Given the description of an element on the screen output the (x, y) to click on. 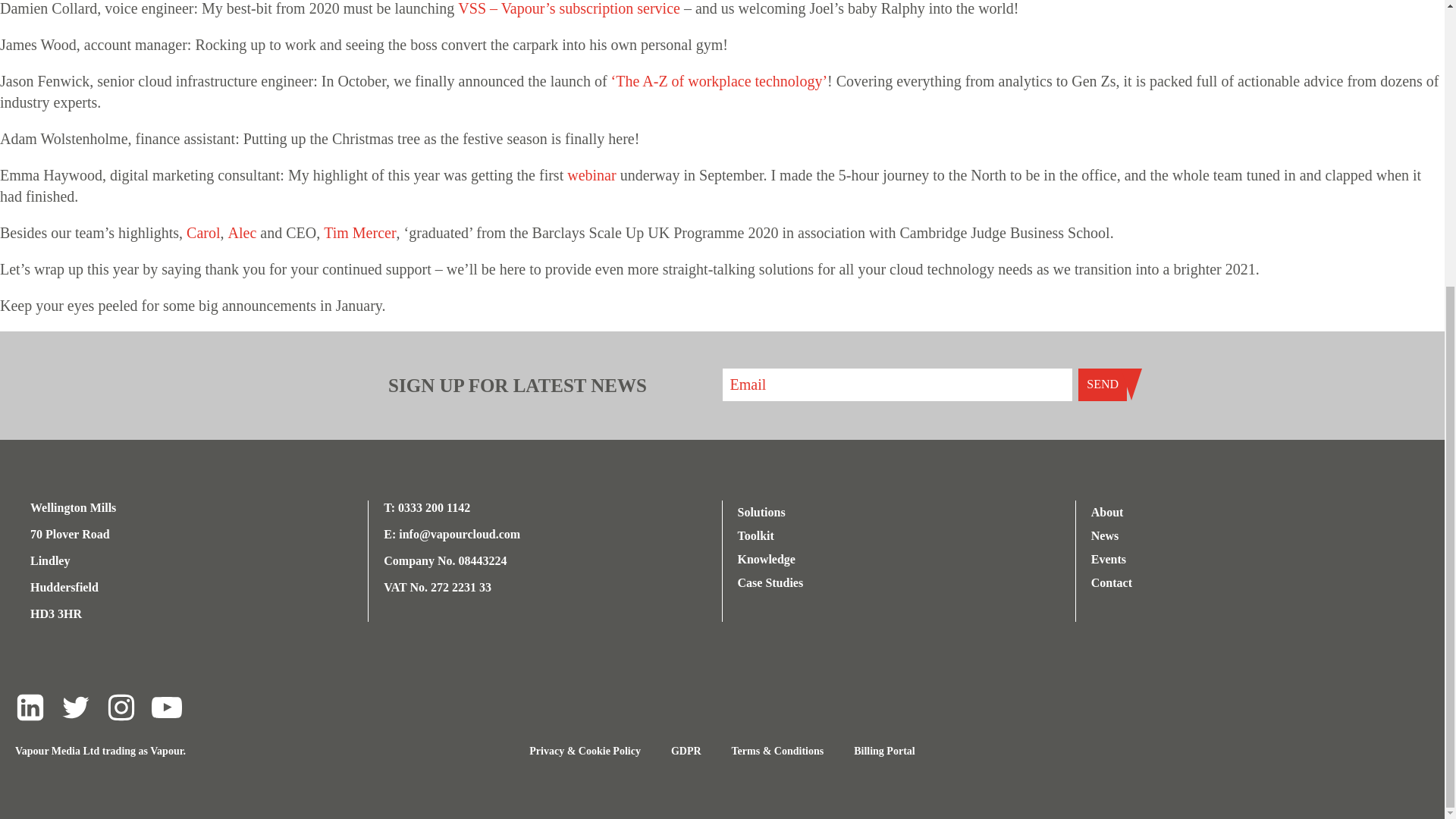
send (1102, 384)
webinar (591, 175)
Alec (242, 232)
Toolkit (777, 535)
Solutions (777, 512)
Carol (202, 232)
send (1102, 384)
Tim Mercer (359, 232)
